Given the description of an element on the screen output the (x, y) to click on. 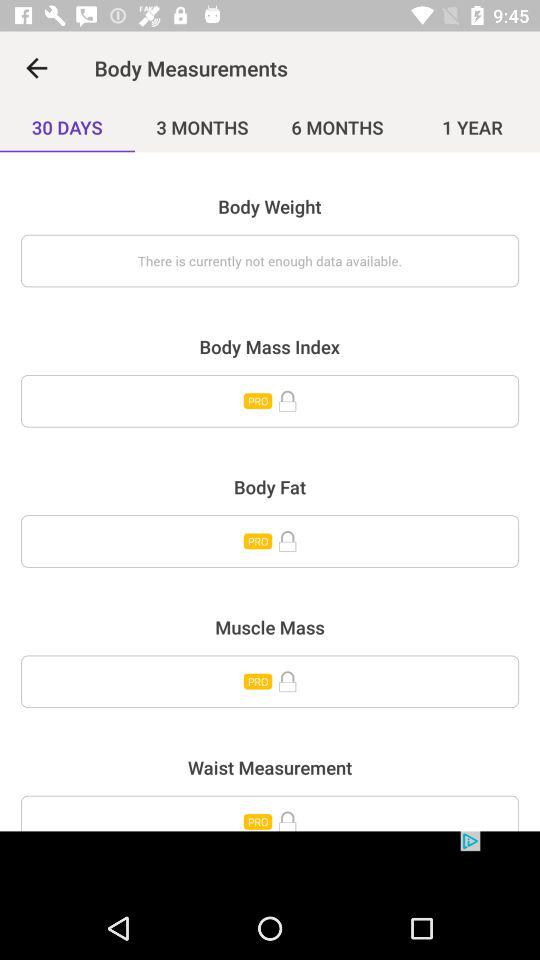
lock berrin (269, 813)
